Given the description of an element on the screen output the (x, y) to click on. 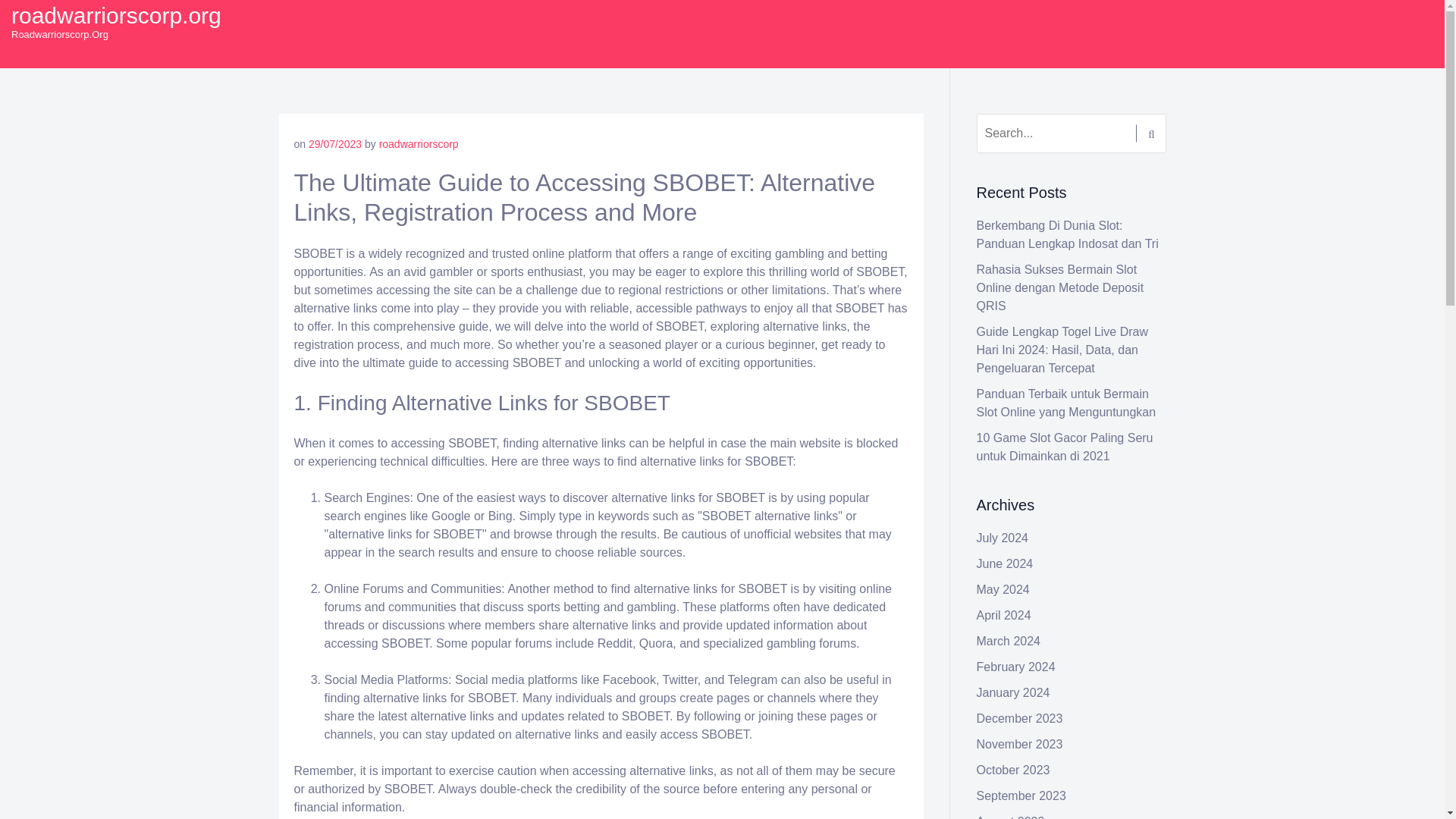
Berkembang Di Dunia Slot: Panduan Lengkap Indosat dan Tri (1067, 234)
Panduan Terbaik untuk Bermain Slot Online yang Menguntungkan (1066, 402)
April 2024 (1003, 615)
August 2023 (1010, 816)
October 2023 (1012, 769)
September 2023 (1020, 795)
roadwarriorscorp.org (116, 15)
May 2024 (1002, 589)
December 2023 (1019, 717)
10 Game Slot Gacor Paling Seru untuk Dimainkan di 2021 (1064, 446)
November 2023 (1019, 744)
roadwarriorscorp (418, 143)
February 2024 (1015, 666)
